Given the description of an element on the screen output the (x, y) to click on. 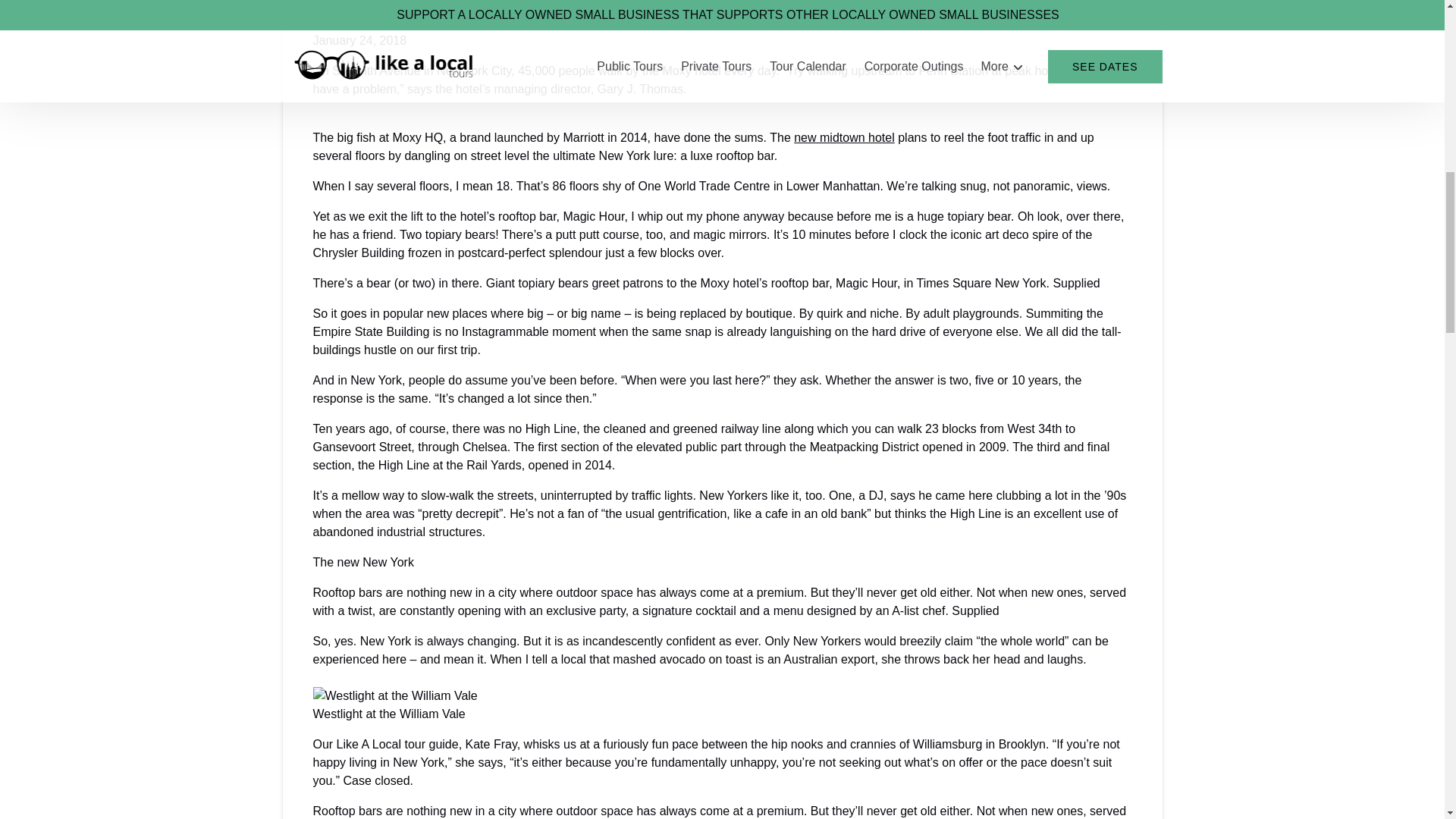
new midtown hotel (844, 137)
FareHarbor (1342, 64)
